Given the description of an element on the screen output the (x, y) to click on. 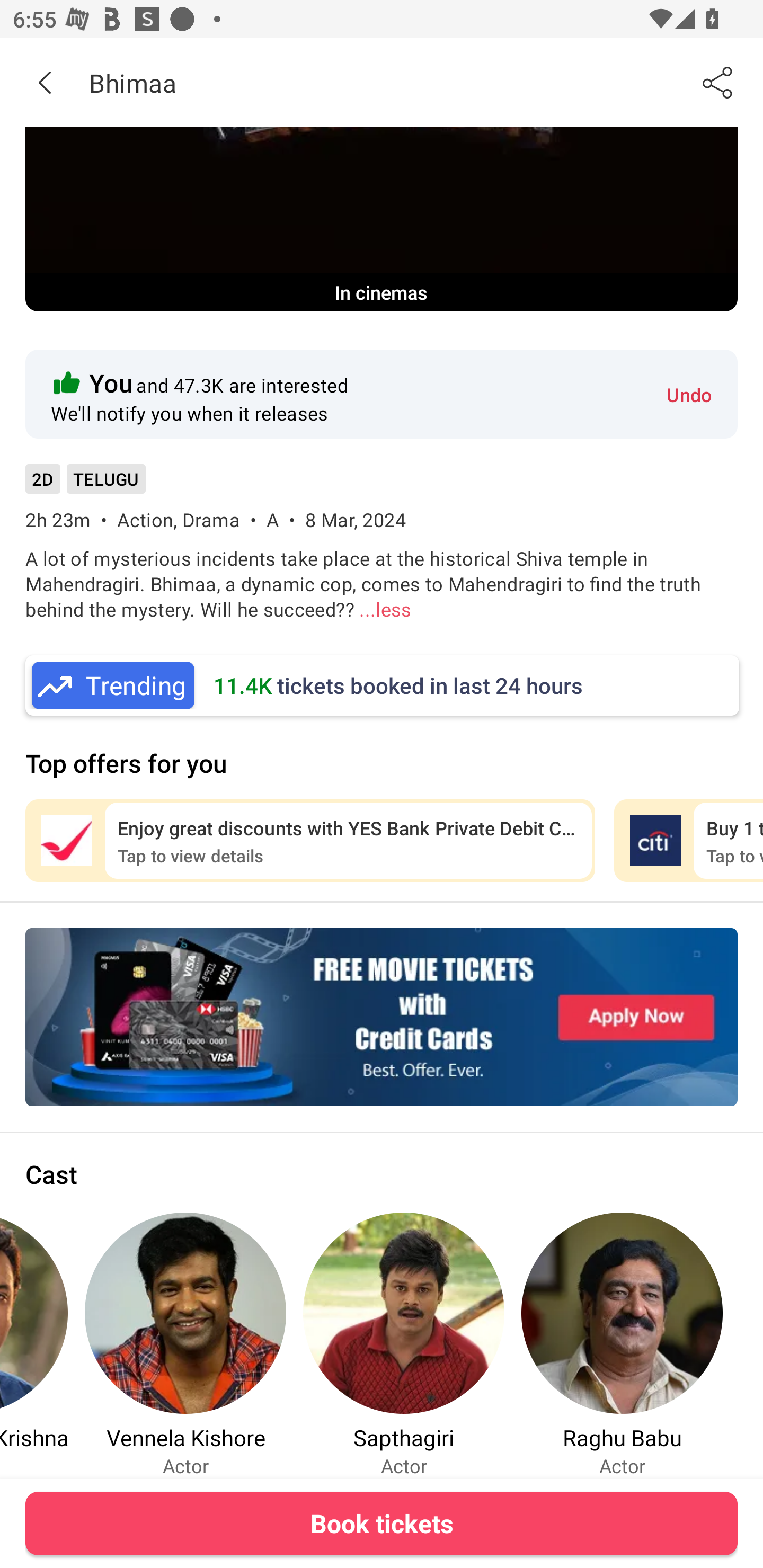
Back (44, 82)
Share (718, 82)
Movie Banner In cinemas (381, 219)
Undo (688, 394)
2D TELUGU (85, 485)
Vennela Kishore Actor (185, 1344)
Sapthagiri Actor (403, 1344)
Raghu Babu Actor (621, 1344)
Book tickets (381, 1523)
